Given the description of an element on the screen output the (x, y) to click on. 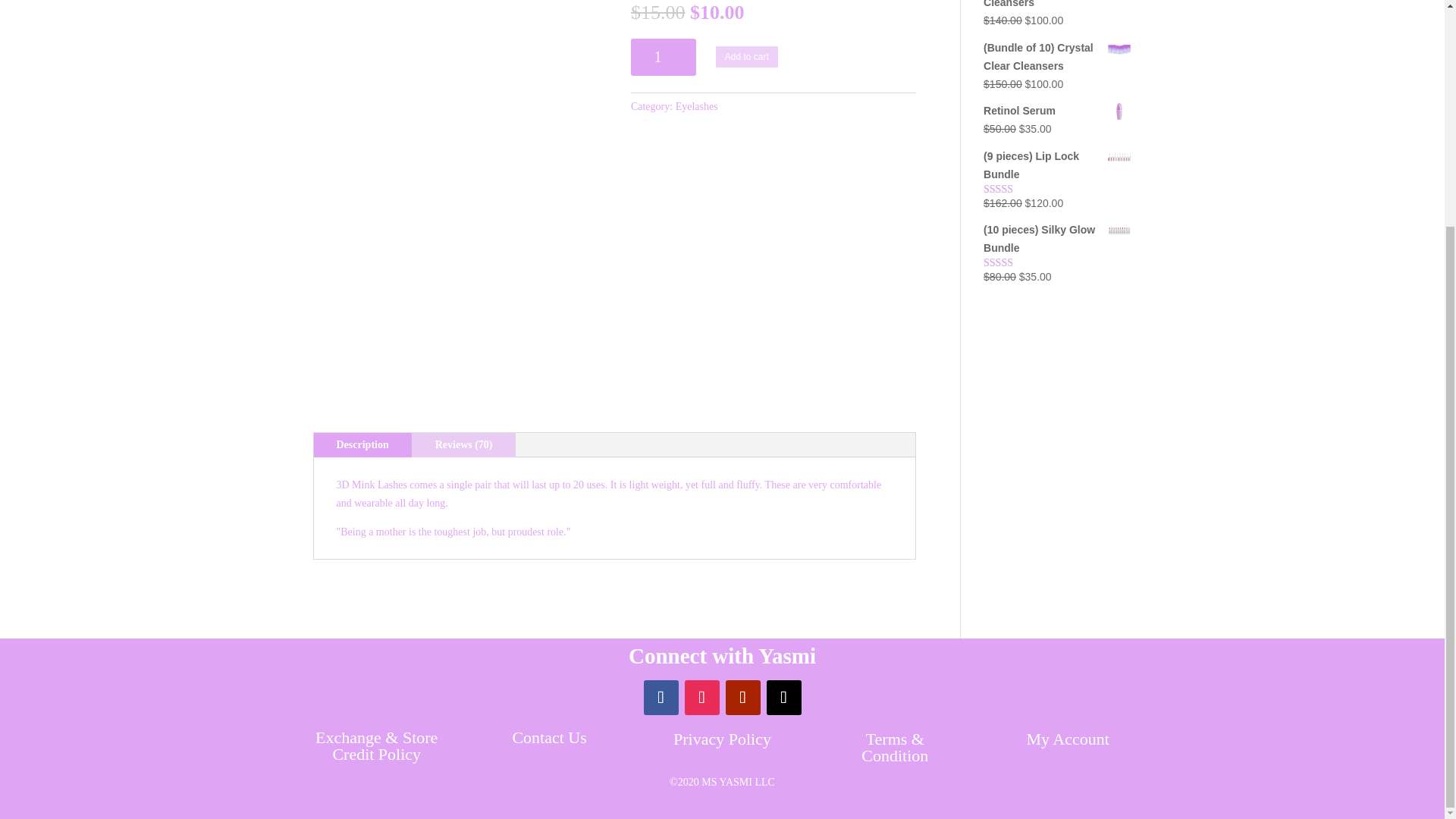
Retinol Serum (1057, 111)
Add to cart (746, 56)
Eyelashes (696, 106)
Follow on Facebook (660, 697)
Follow on Instagram (701, 697)
Description (363, 445)
Follow on Youtube (742, 697)
1 (662, 57)
Follow on TikTok (782, 697)
